Given the description of an element on the screen output the (x, y) to click on. 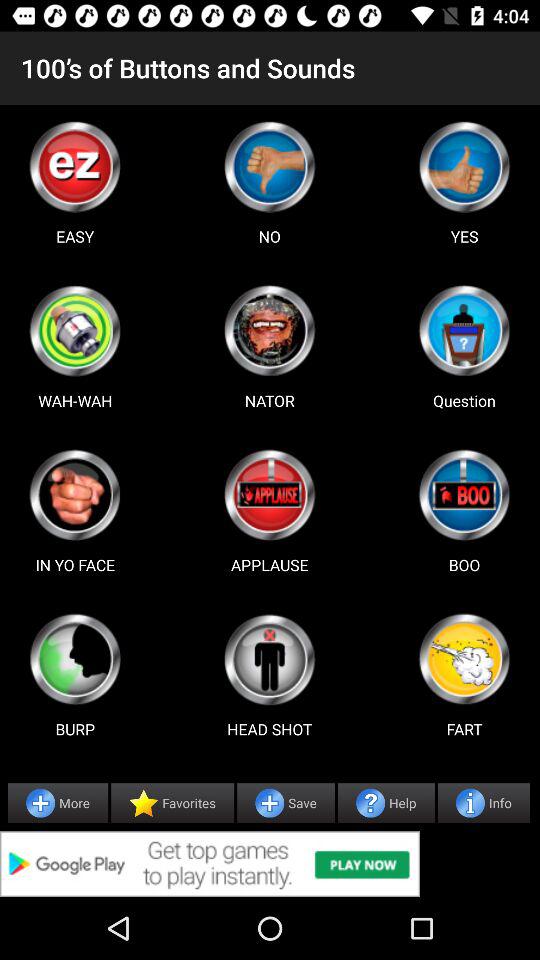
use the button head shot (269, 659)
